Given the description of an element on the screen output the (x, y) to click on. 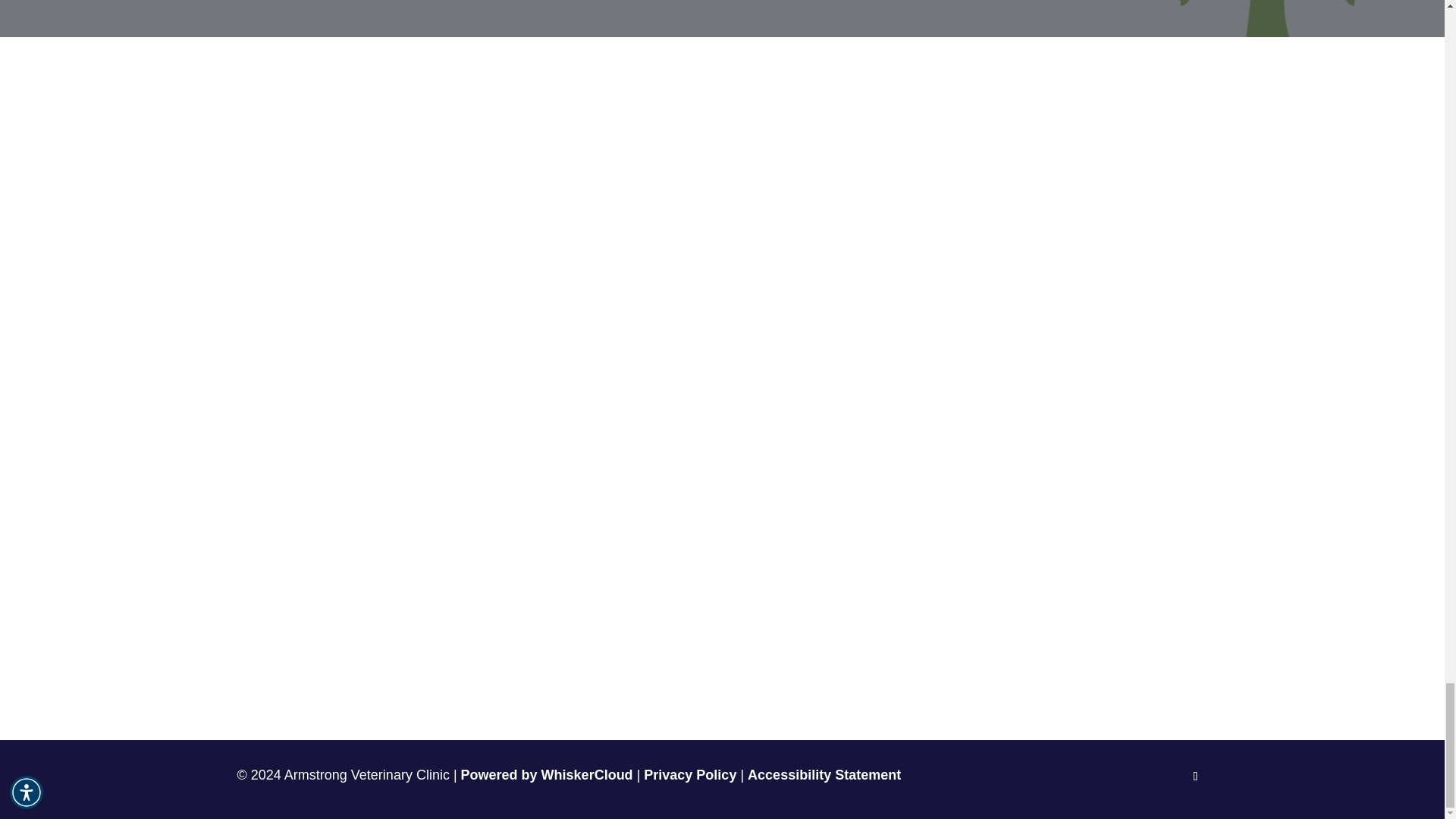
Follow on Facebook (1194, 776)
